Given the description of an element on the screen output the (x, y) to click on. 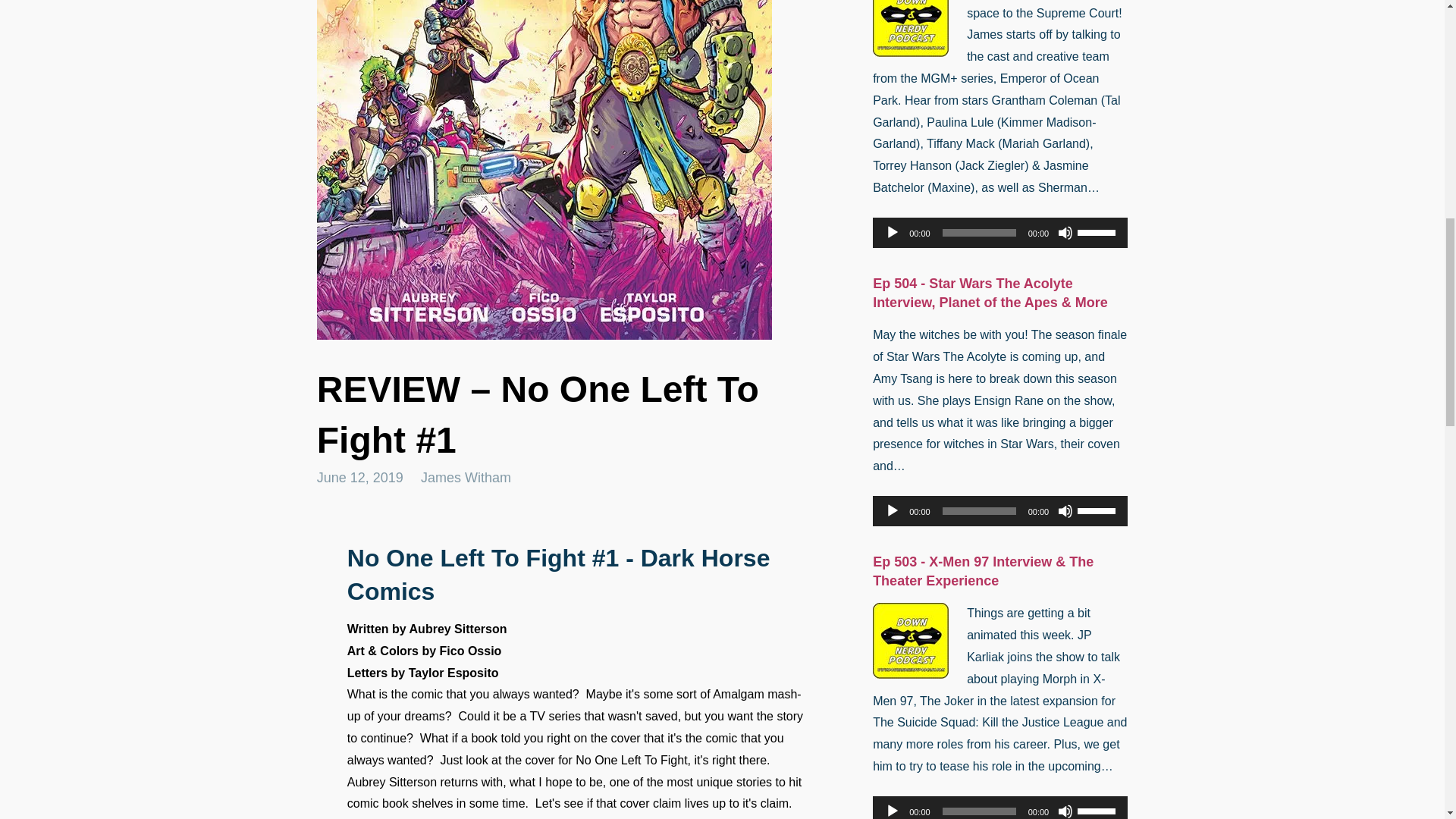
Play (892, 232)
James Witham (465, 477)
Posts by James Witham (465, 477)
Mute (1065, 232)
